Given the description of an element on the screen output the (x, y) to click on. 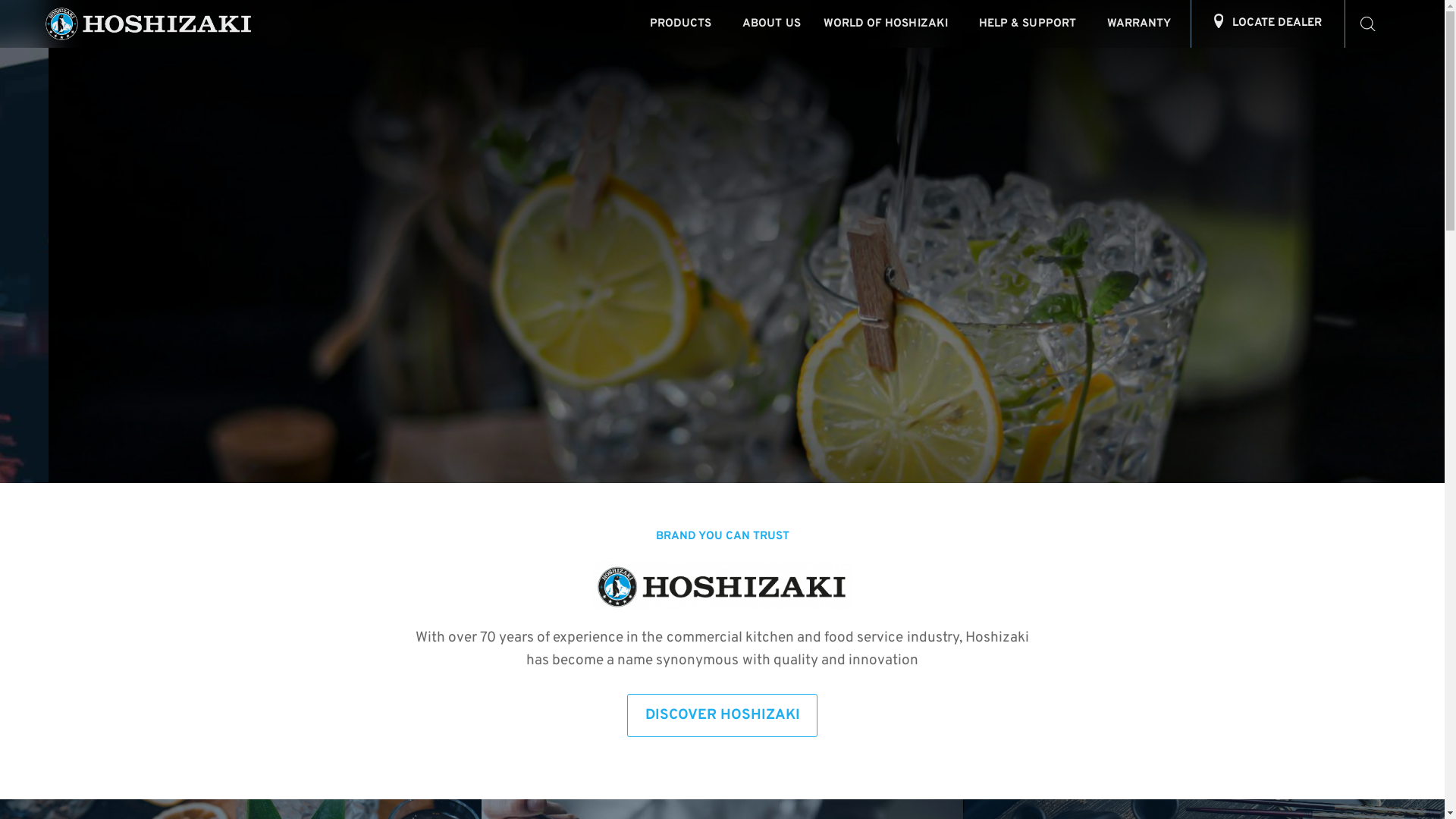
HELP & SUPPORT Element type: text (1031, 23)
WORLD OF HOSHIZAKI Element type: text (889, 23)
ABOUT US Element type: text (771, 23)
WARRANTY Element type: text (1143, 23)
PRODUCTS Element type: text (684, 23)
LOCATE DEALER Element type: text (1267, 23)
DISCOVER HOSHIZAKI Element type: text (722, 715)
